Given the description of an element on the screen output the (x, y) to click on. 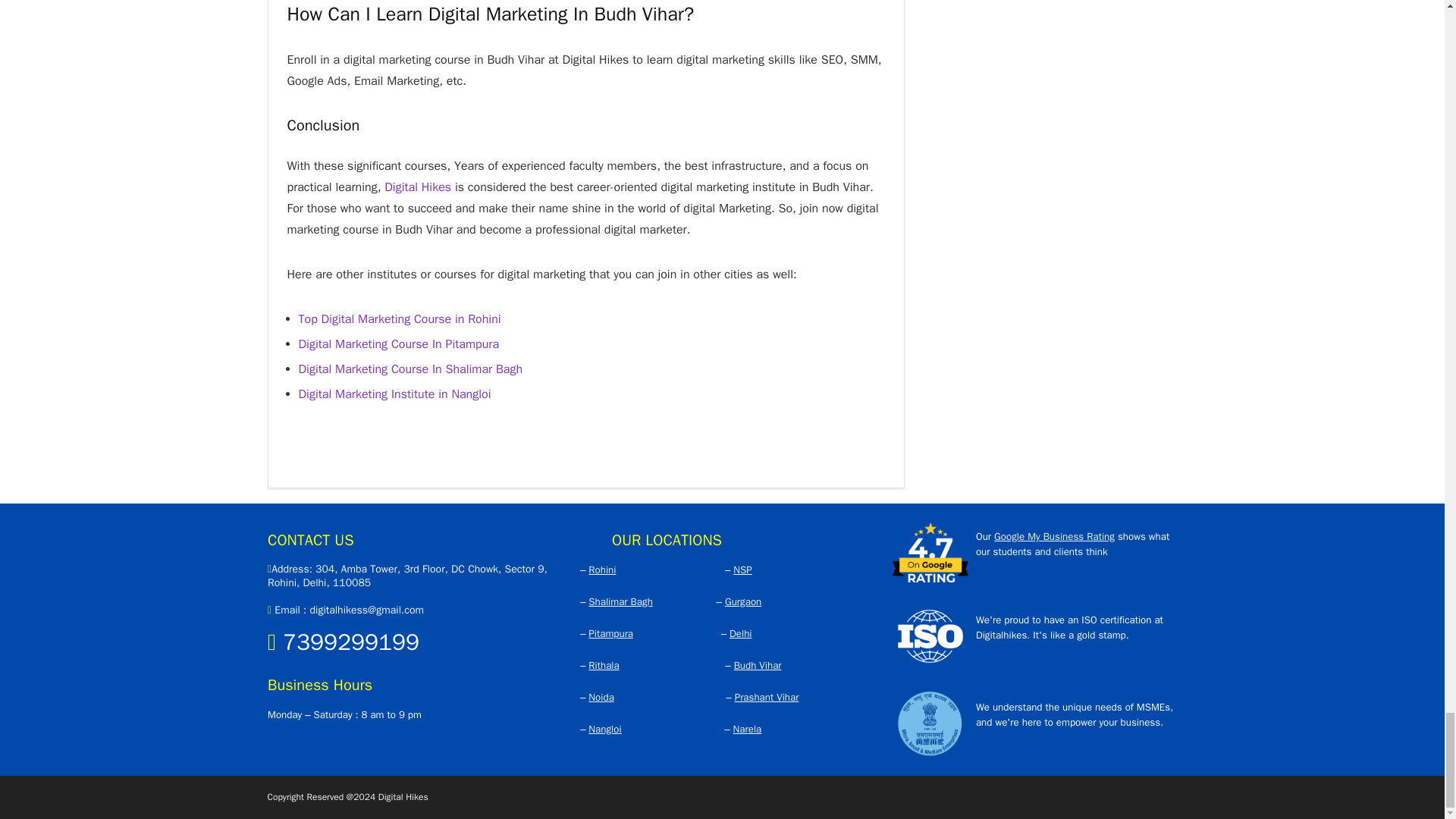
Digital Marketing Course In Pitampura (398, 344)
Digital Marketing Institute in Nangloi (395, 394)
Digital Hikes (417, 186)
Top Digital Marketing Course in Rohini (399, 319)
Digital Marketing Course In Shalimar Bagh (410, 368)
